Given the description of an element on the screen output the (x, y) to click on. 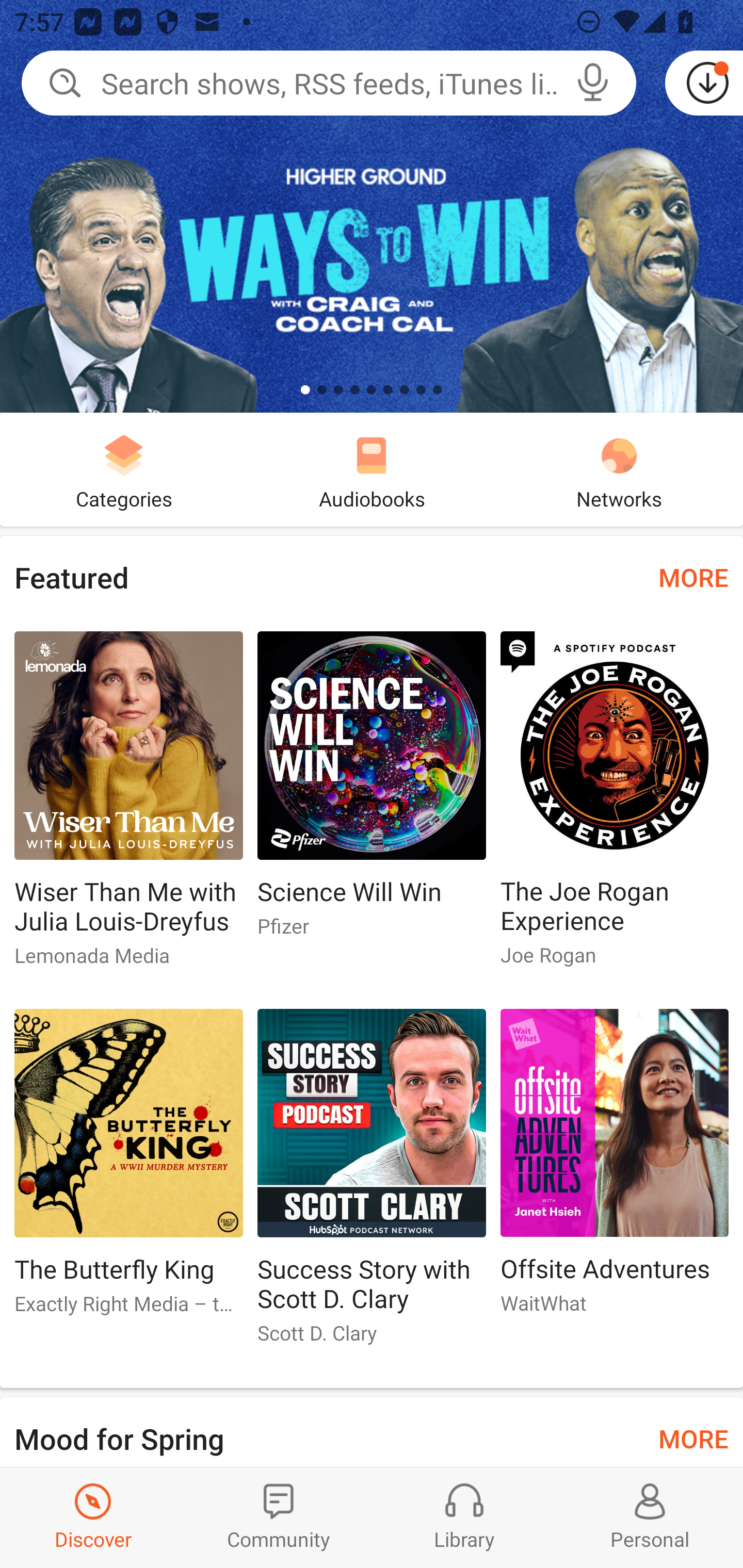
Ways To Win (371, 206)
Categories (123, 469)
Audiobooks (371, 469)
Networks (619, 469)
MORE (693, 576)
Science Will Win Science Will Win Pfizer (371, 792)
Offsite Adventures Offsite Adventures WaitWhat (614, 1169)
MORE (693, 1436)
Discover (92, 1517)
Community (278, 1517)
Library (464, 1517)
Profiles and Settings Personal (650, 1517)
